Given the description of an element on the screen output the (x, y) to click on. 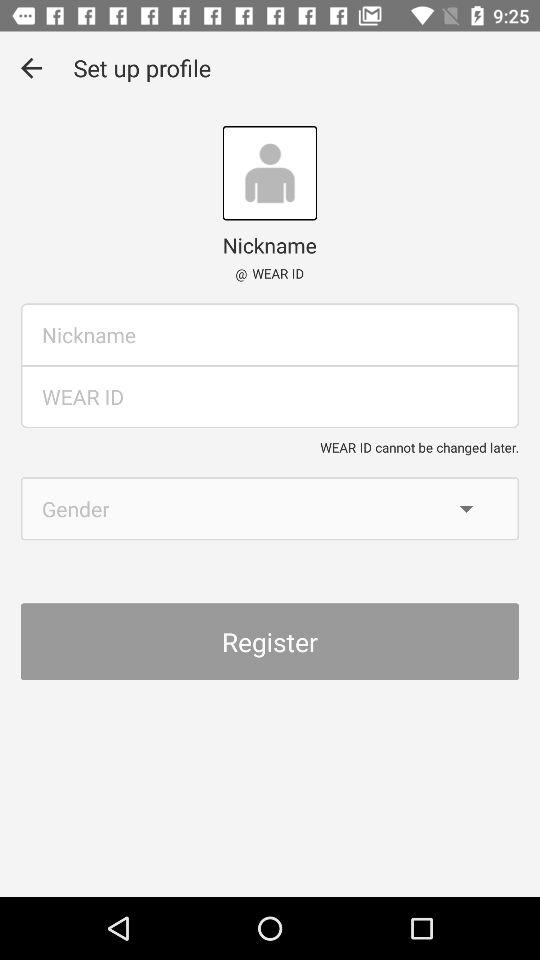
nickname (270, 334)
